Given the description of an element on the screen output the (x, y) to click on. 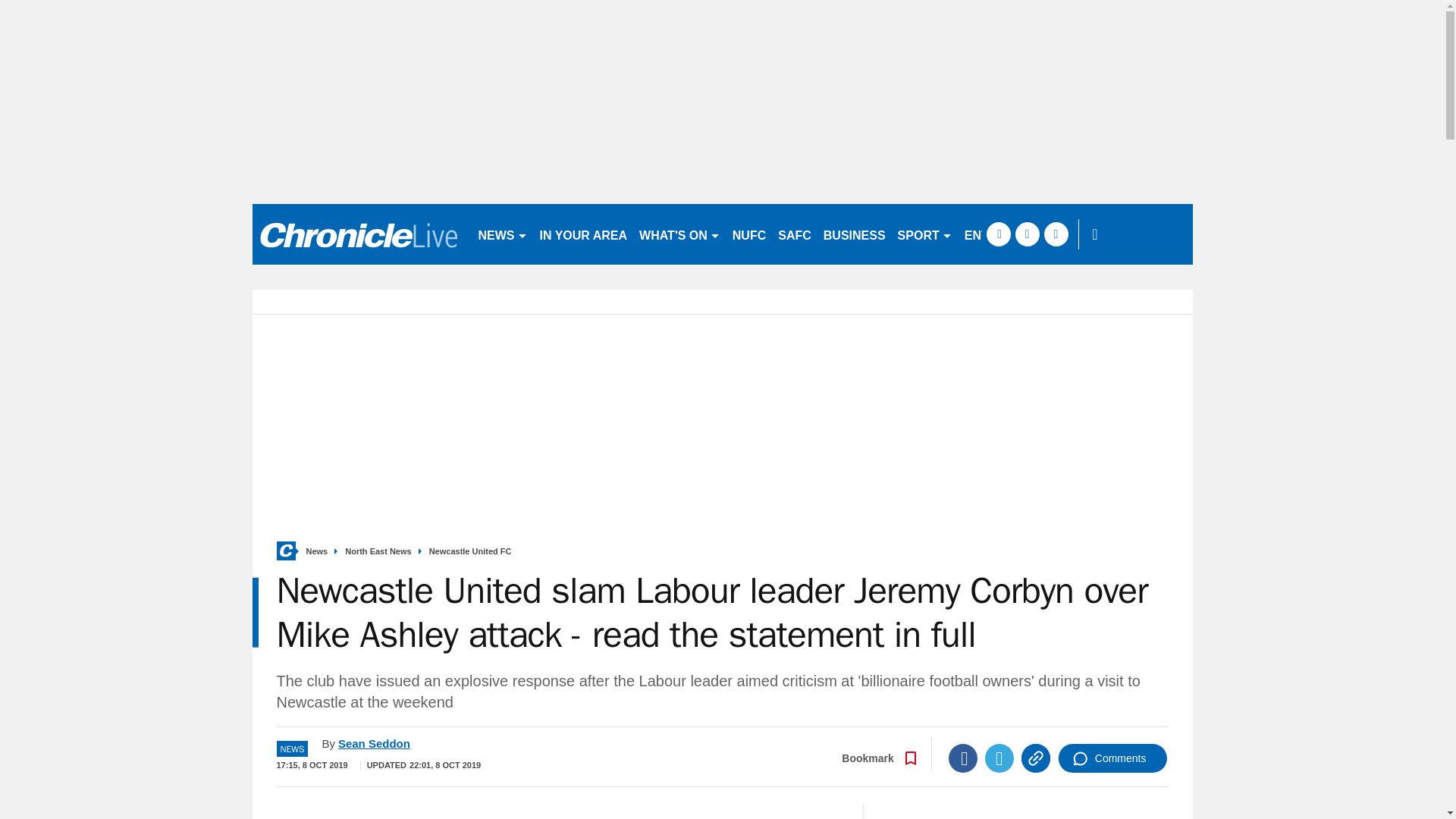
NEWS (501, 233)
Comments (1112, 758)
Facebook (962, 758)
nechronicle (357, 233)
Twitter (999, 758)
facebook (997, 233)
twitter (1026, 233)
SPORT (924, 233)
IN YOUR AREA (583, 233)
BUSINESS (853, 233)
